Given the description of an element on the screen output the (x, y) to click on. 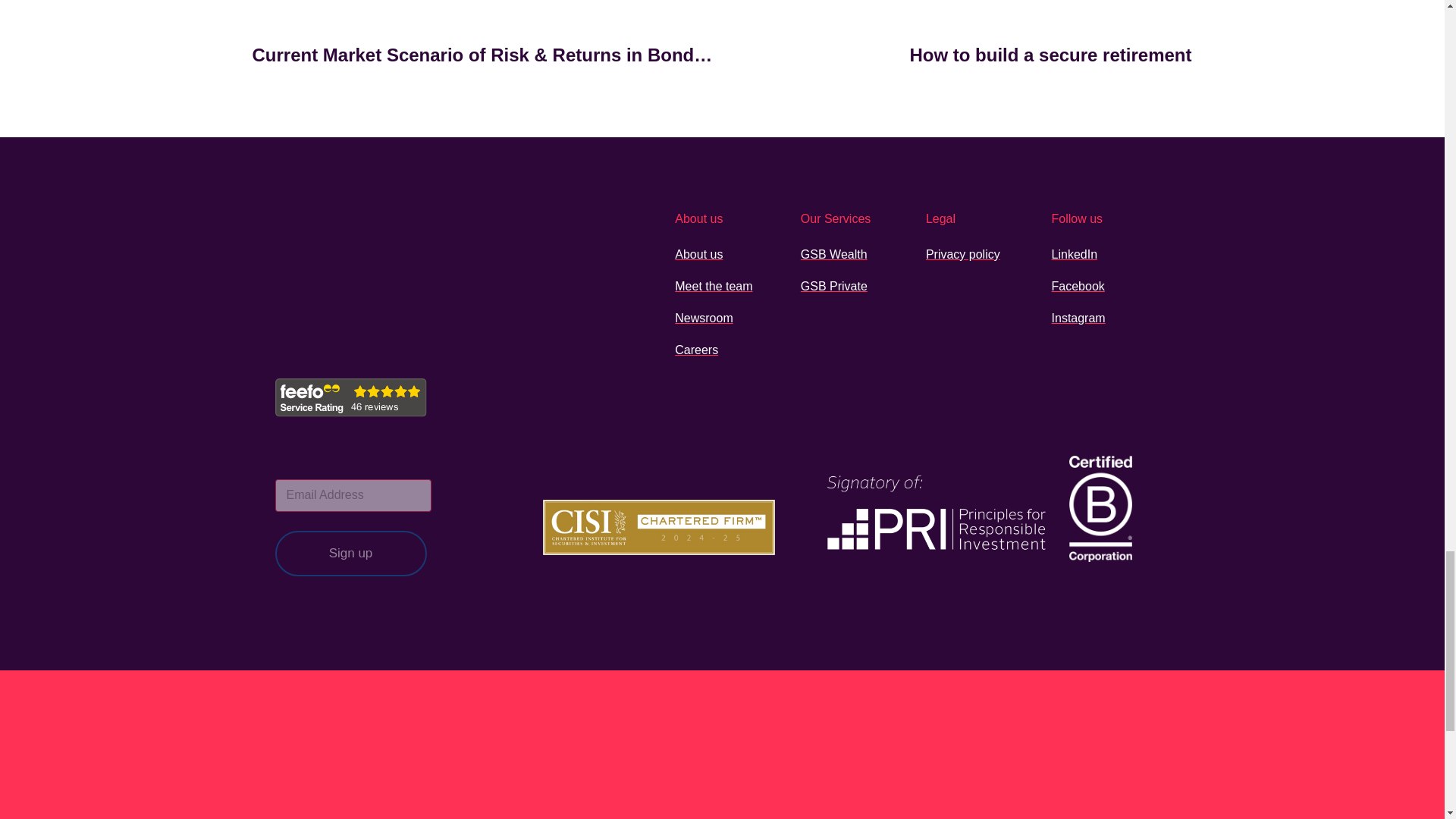
See what our customers say about us (350, 397)
